Given the description of an element on the screen output the (x, y) to click on. 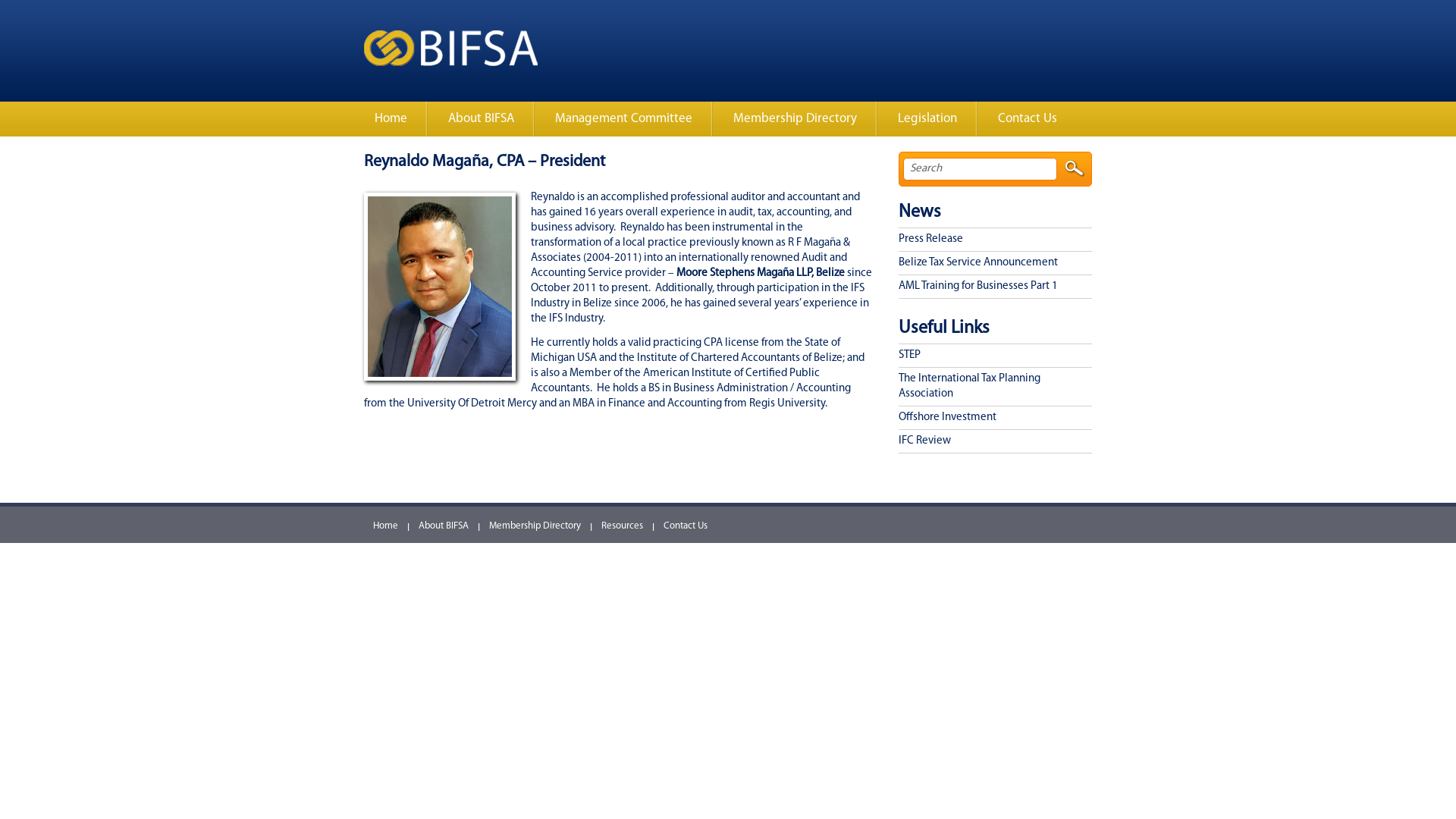
Legislation Element type: text (927, 118)
AML Training for Businesses Part 1 Element type: text (995, 286)
Home Element type: text (390, 118)
Resources Element type: text (623, 525)
Membership Directory Element type: text (536, 525)
About BIFSA Element type: text (480, 118)
Contact Us Element type: text (686, 525)
The International Tax Planning Association Element type: text (995, 386)
IFC Review Element type: text (995, 440)
About BIFSA Element type: text (444, 525)
Membership Directory Element type: text (794, 118)
Management Committee Element type: text (623, 118)
Home Element type: text (386, 525)
Press Release Element type: text (995, 239)
Search Element type: text (1074, 168)
News Element type: text (919, 212)
BIFSA Element type: hover (450, 63)
Offshore Investment Element type: text (995, 417)
Belize Tax Service Announcement Element type: text (995, 262)
Contact Us Element type: text (1027, 118)
STEP Element type: text (995, 355)
